Given the description of an element on the screen output the (x, y) to click on. 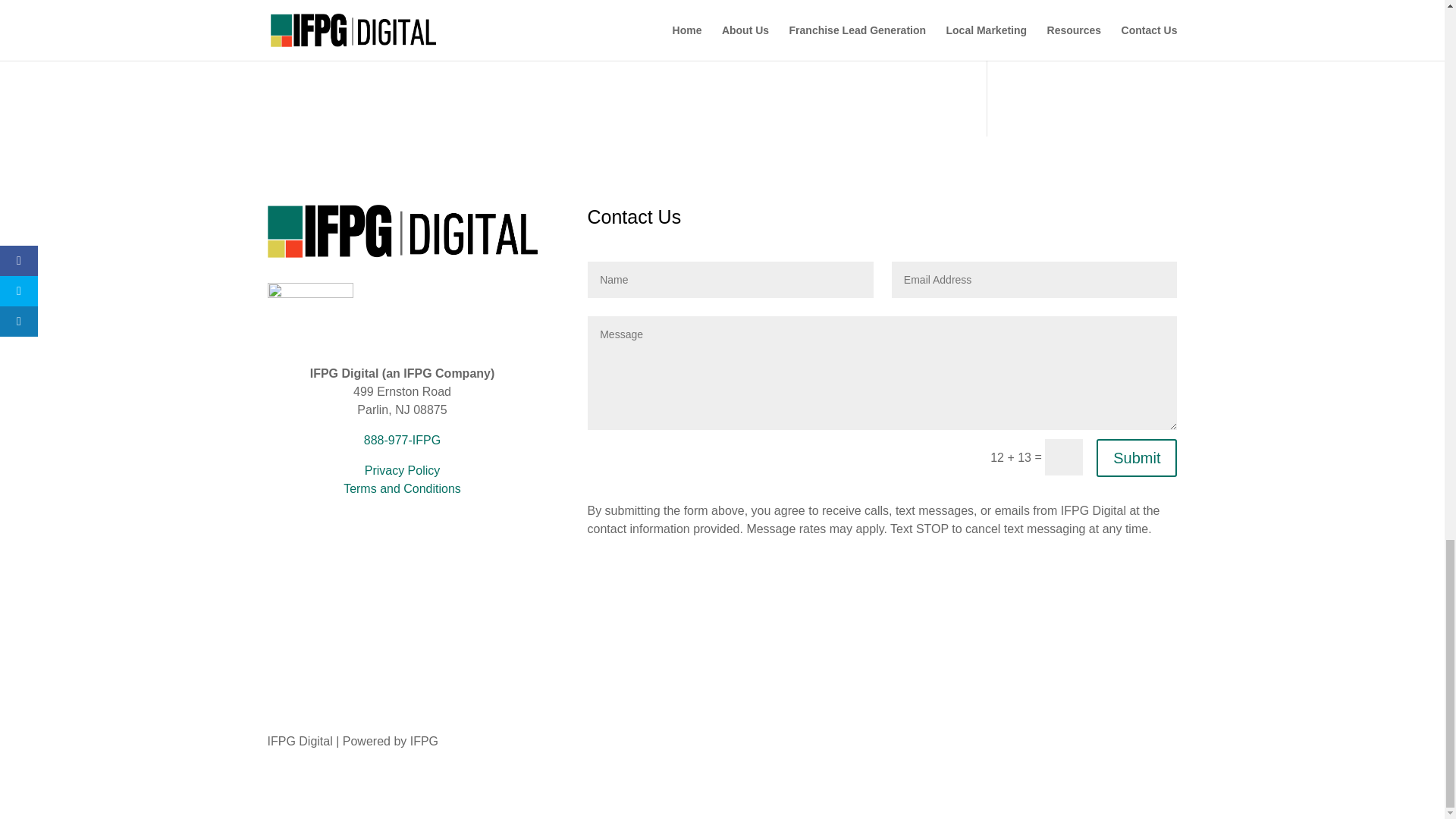
Submit (1136, 457)
888-977-IFPG (402, 440)
Terms and Conditions (402, 488)
Privacy Policy (403, 470)
IFPG Digital Logo (401, 230)
ifpg-company (309, 310)
Follow on X (401, 577)
